Given the description of an element on the screen output the (x, y) to click on. 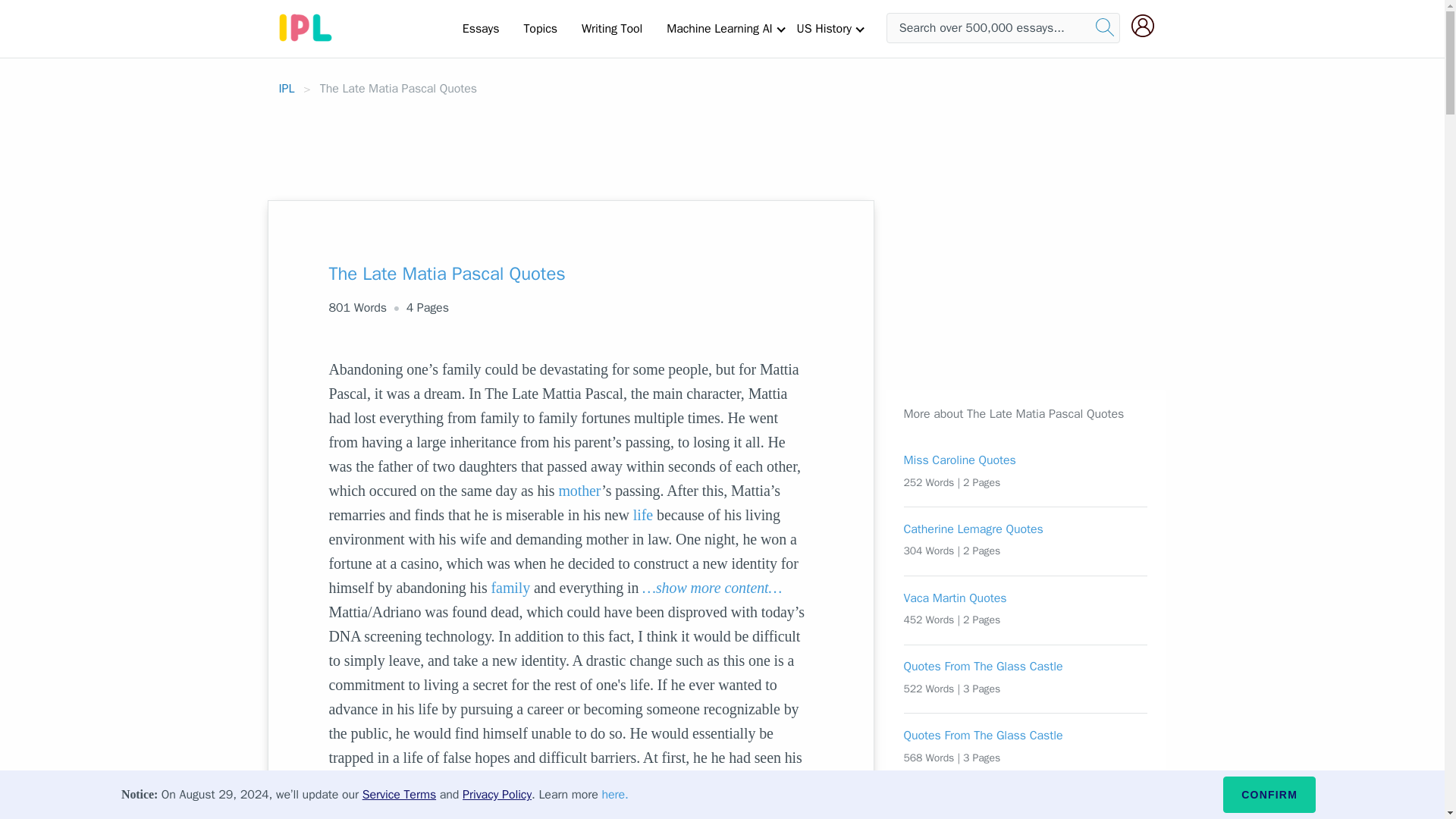
mother (579, 490)
US History (823, 28)
life (642, 514)
family (511, 587)
Writing Tool (611, 28)
Topics (540, 28)
IPL (287, 88)
Machine Learning AI (718, 28)
Essays (480, 28)
